Given the description of an element on the screen output the (x, y) to click on. 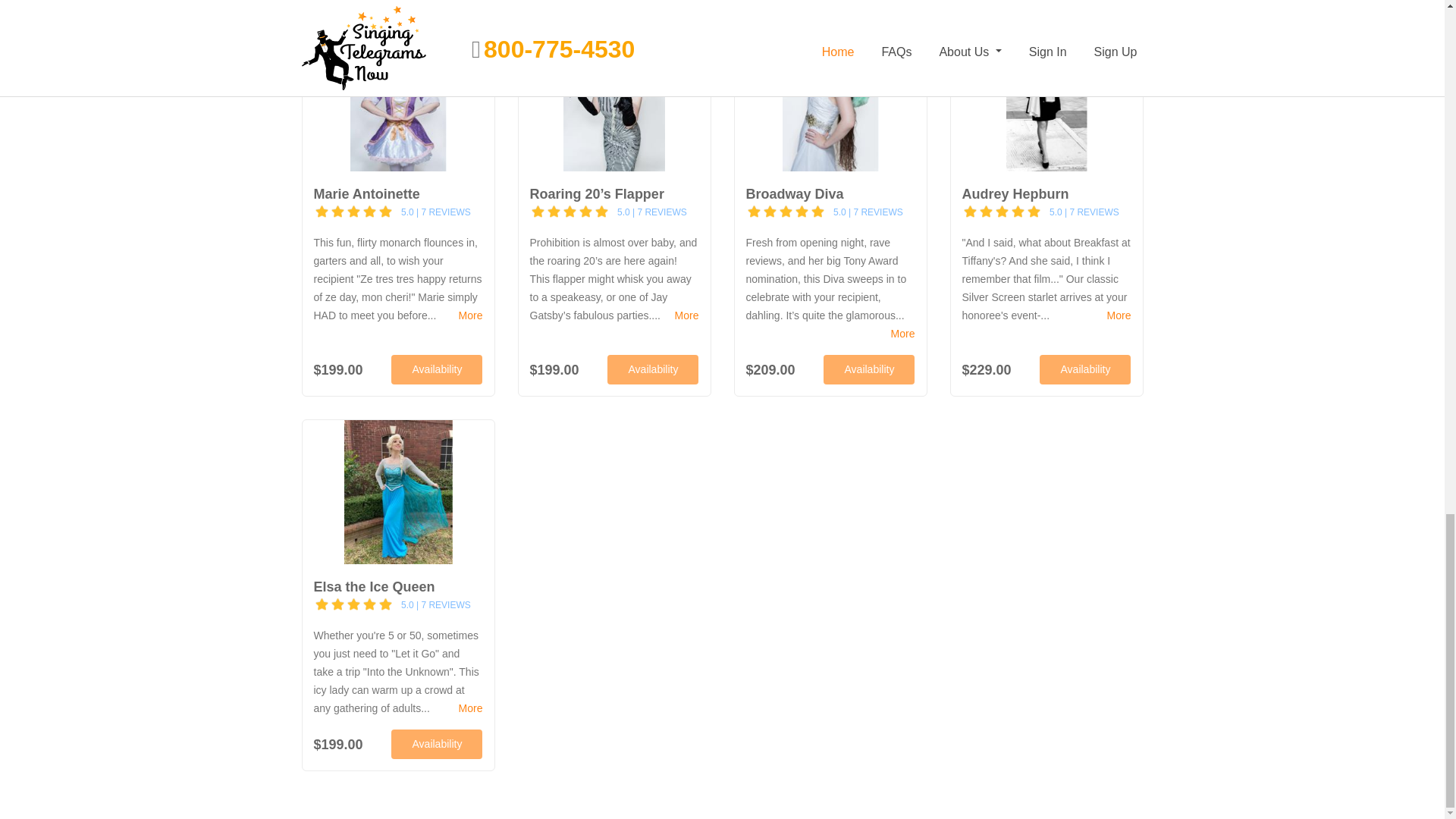
Availability (1085, 369)
Availability (869, 369)
Availability (436, 369)
Availability (652, 369)
